Given the description of an element on the screen output the (x, y) to click on. 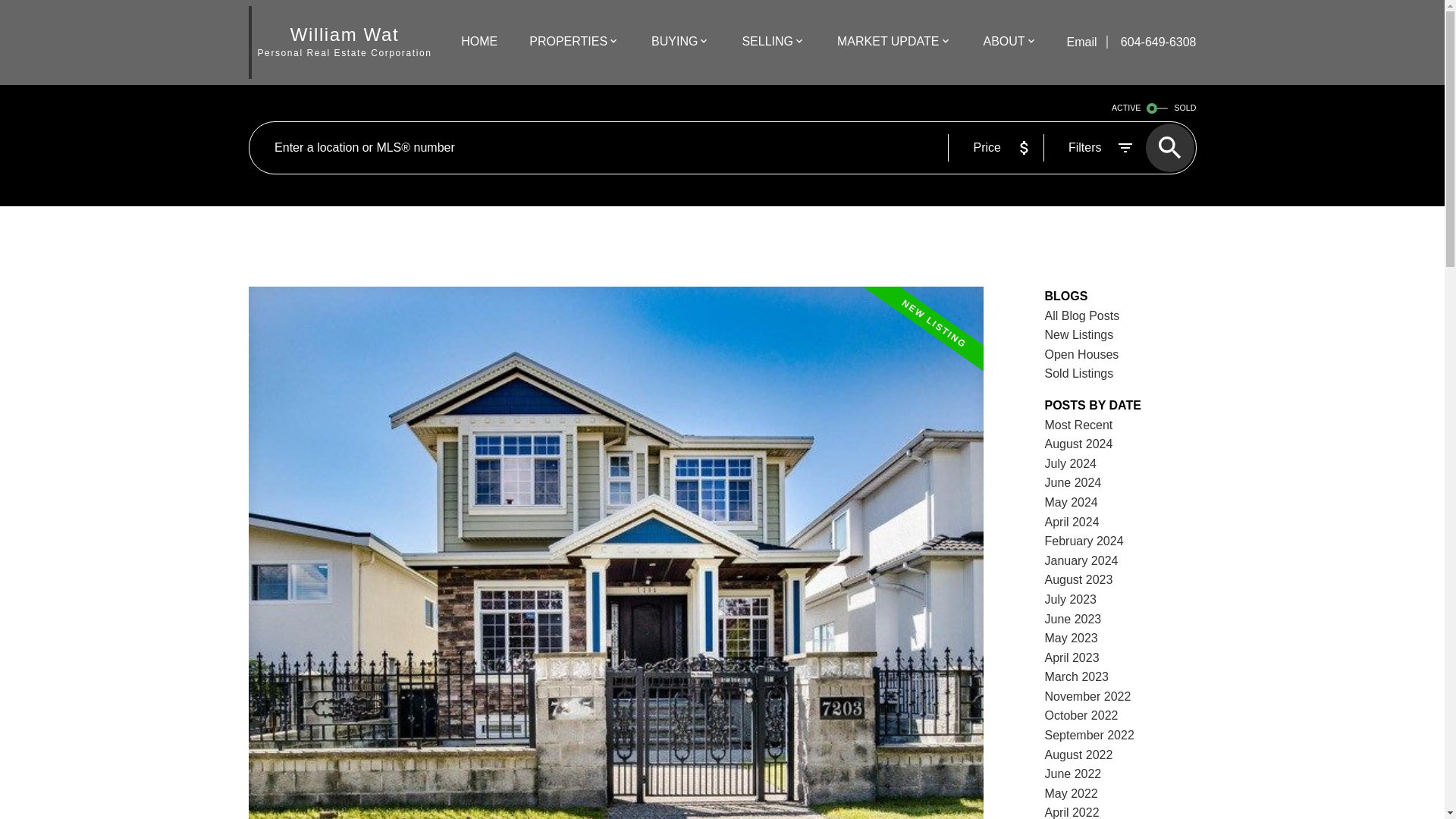
All Blog Posts (1082, 315)
Email (1082, 42)
July 2023 (1071, 599)
July 2024 (1071, 463)
August 2024 (1079, 443)
February 2024 (1084, 540)
New Listings (1079, 334)
Open Houses (1082, 354)
June 2024 (1073, 481)
August 2023 (1079, 579)
